Given the description of an element on the screen output the (x, y) to click on. 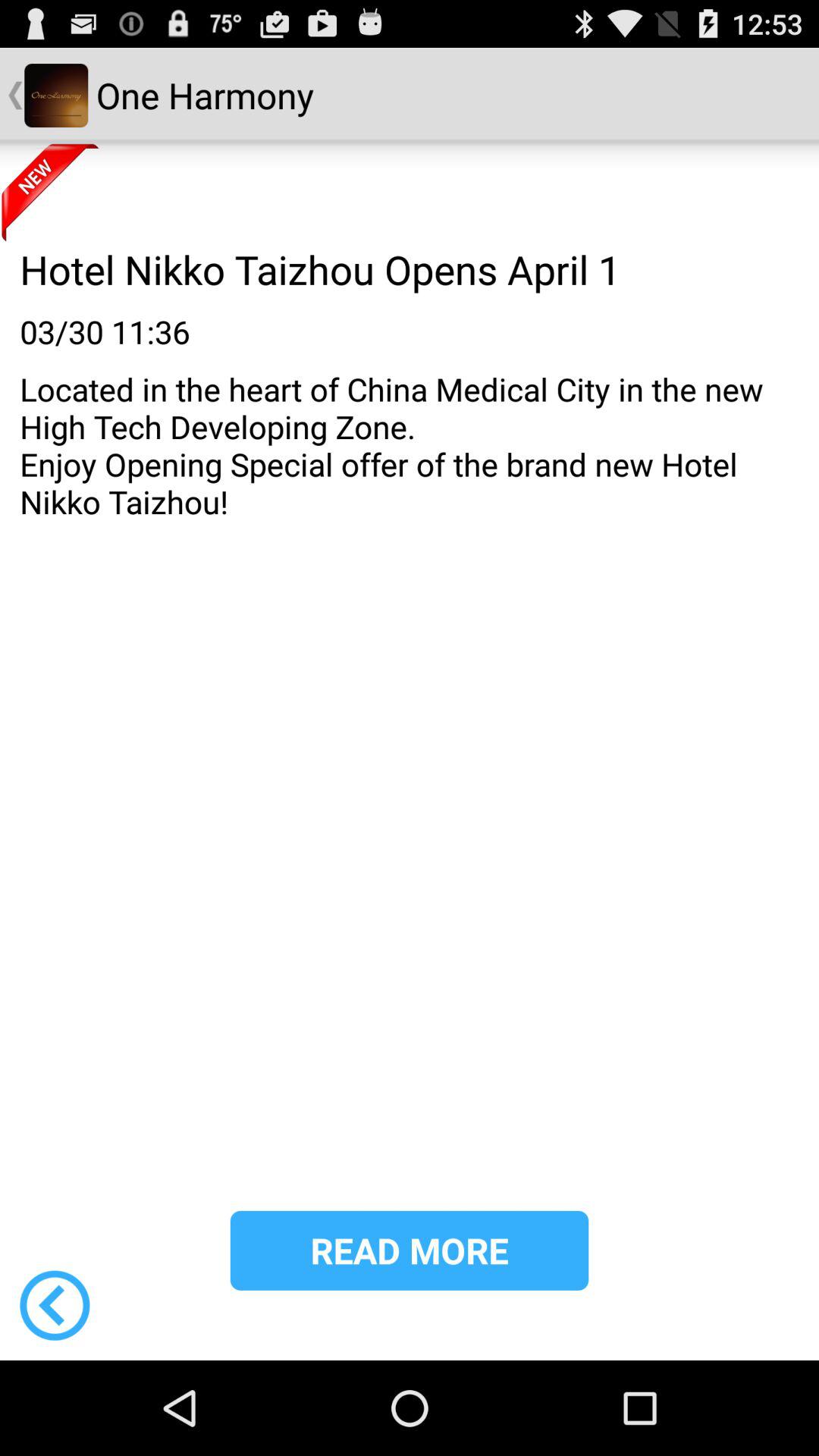
choose the item below the located in the icon (54, 1305)
